Given the description of an element on the screen output the (x, y) to click on. 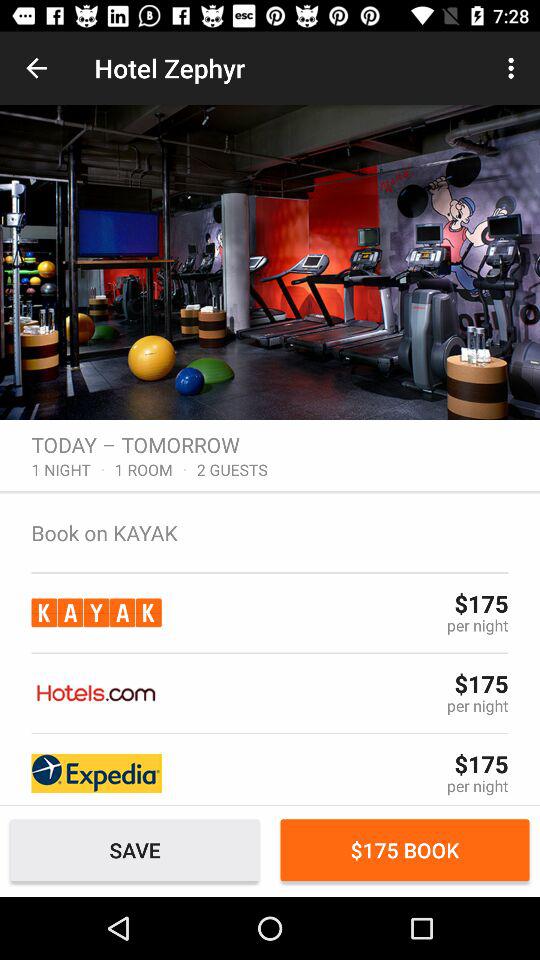
click the icon next to the hotel zephyr item (36, 68)
